Given the description of an element on the screen output the (x, y) to click on. 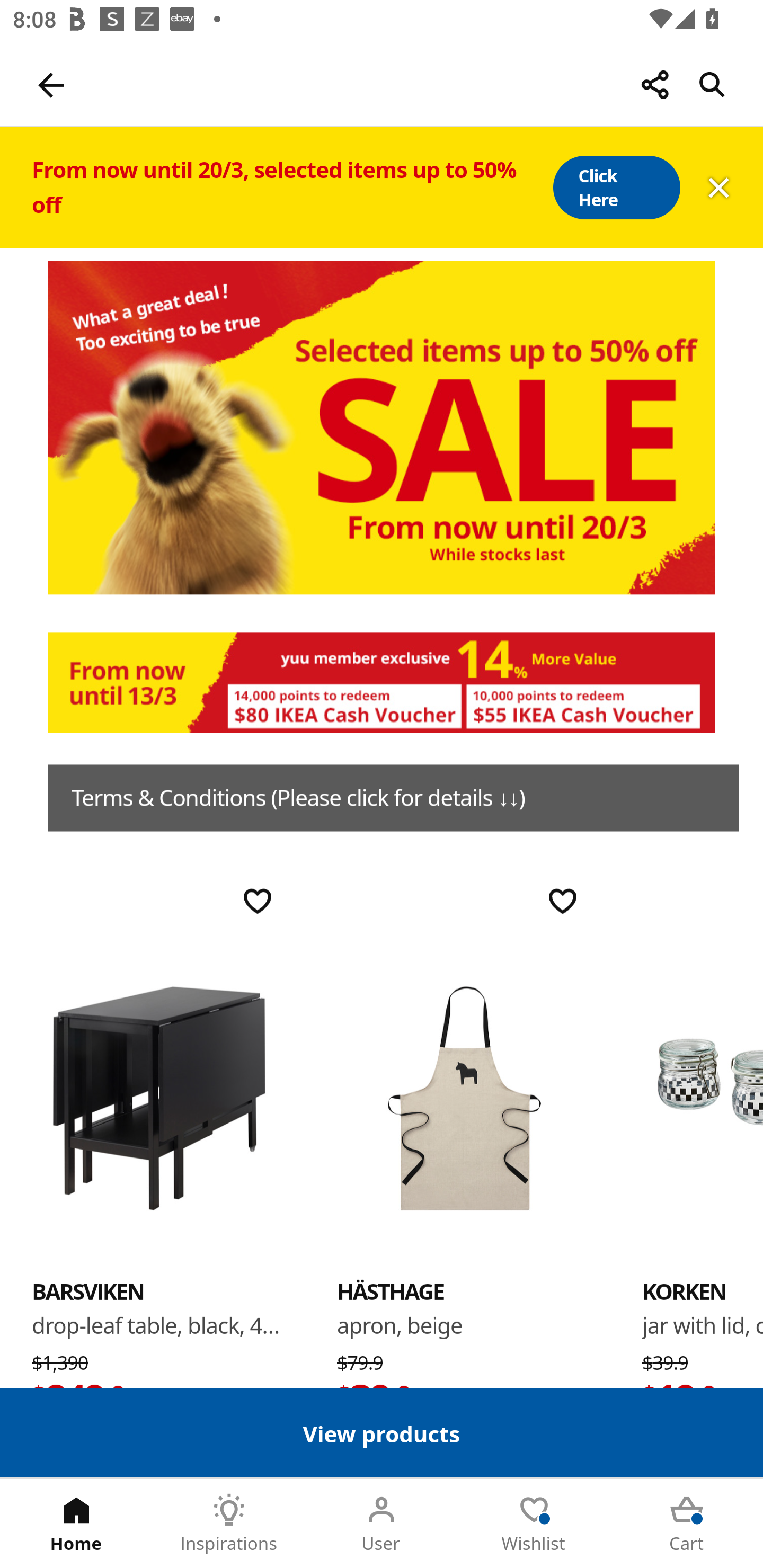
Click Here (615, 187)
Terms & Conditions (Please click for details ↓↓) (393, 798)
BARSVIKEN (159, 1096)
HÄSTHAGE (464, 1096)
KORKEN (702, 1096)
BARSVIKEN (88, 1290)
HÄSTHAGE (390, 1290)
KORKEN (684, 1290)
View products (381, 1432)
Home
Tab 1 of 5 (76, 1522)
Inspirations
Tab 2 of 5 (228, 1522)
User
Tab 3 of 5 (381, 1522)
Wishlist
Tab 4 of 5 (533, 1522)
Cart
Tab 5 of 5 (686, 1522)
